Given the description of an element on the screen output the (x, y) to click on. 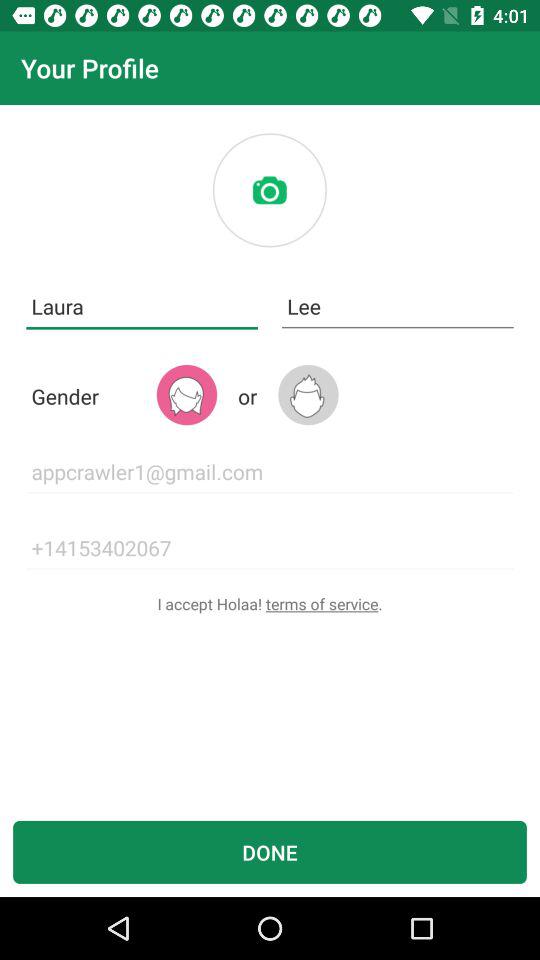
open icon above the appcrawler1@gmail.com item (186, 394)
